Given the description of an element on the screen output the (x, y) to click on. 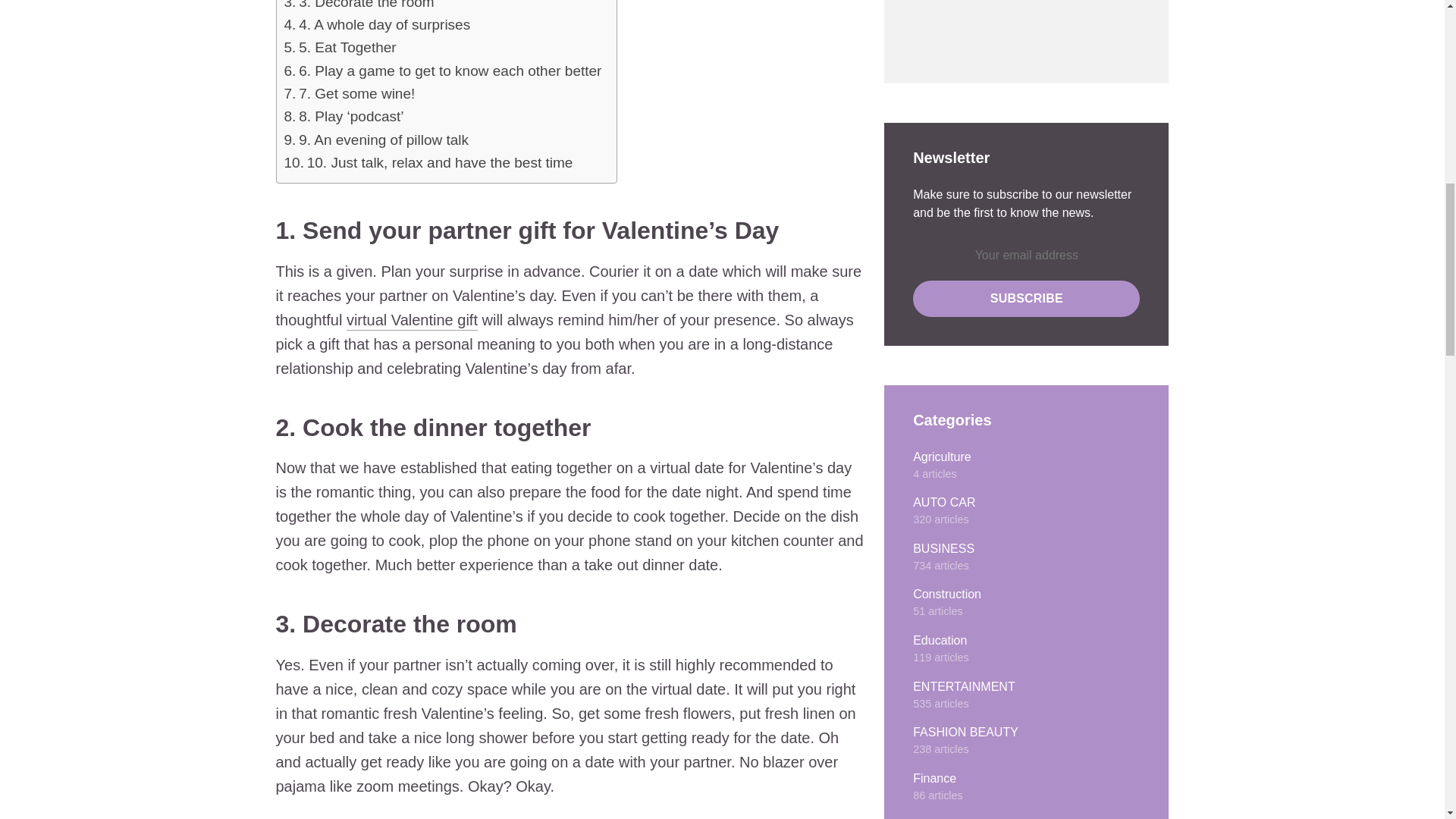
3. Decorate the room (365, 5)
5. Eat Together (347, 47)
4. A whole day of surprises (384, 25)
10. Just talk, relax and have the best time (440, 162)
Subscribe (1026, 298)
6. Play a game to get to know each other better (449, 71)
Advertisement (1009, 27)
9. An evening of pillow talk (383, 140)
7. Get some wine! (356, 94)
